Given the description of an element on the screen output the (x, y) to click on. 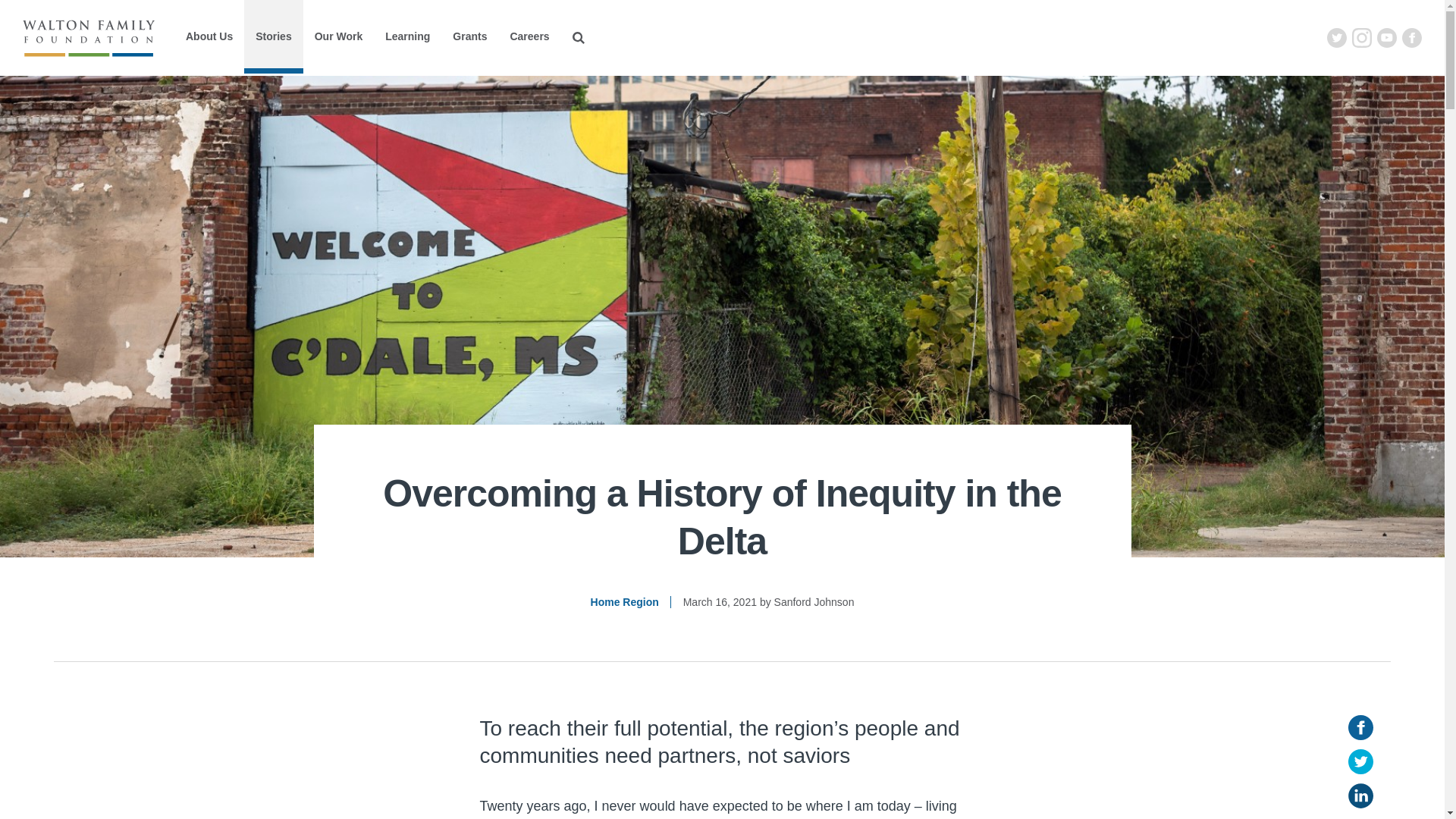
About Us (209, 36)
Learning (407, 36)
Our Work (338, 36)
Home Region (625, 602)
